Given the description of an element on the screen output the (x, y) to click on. 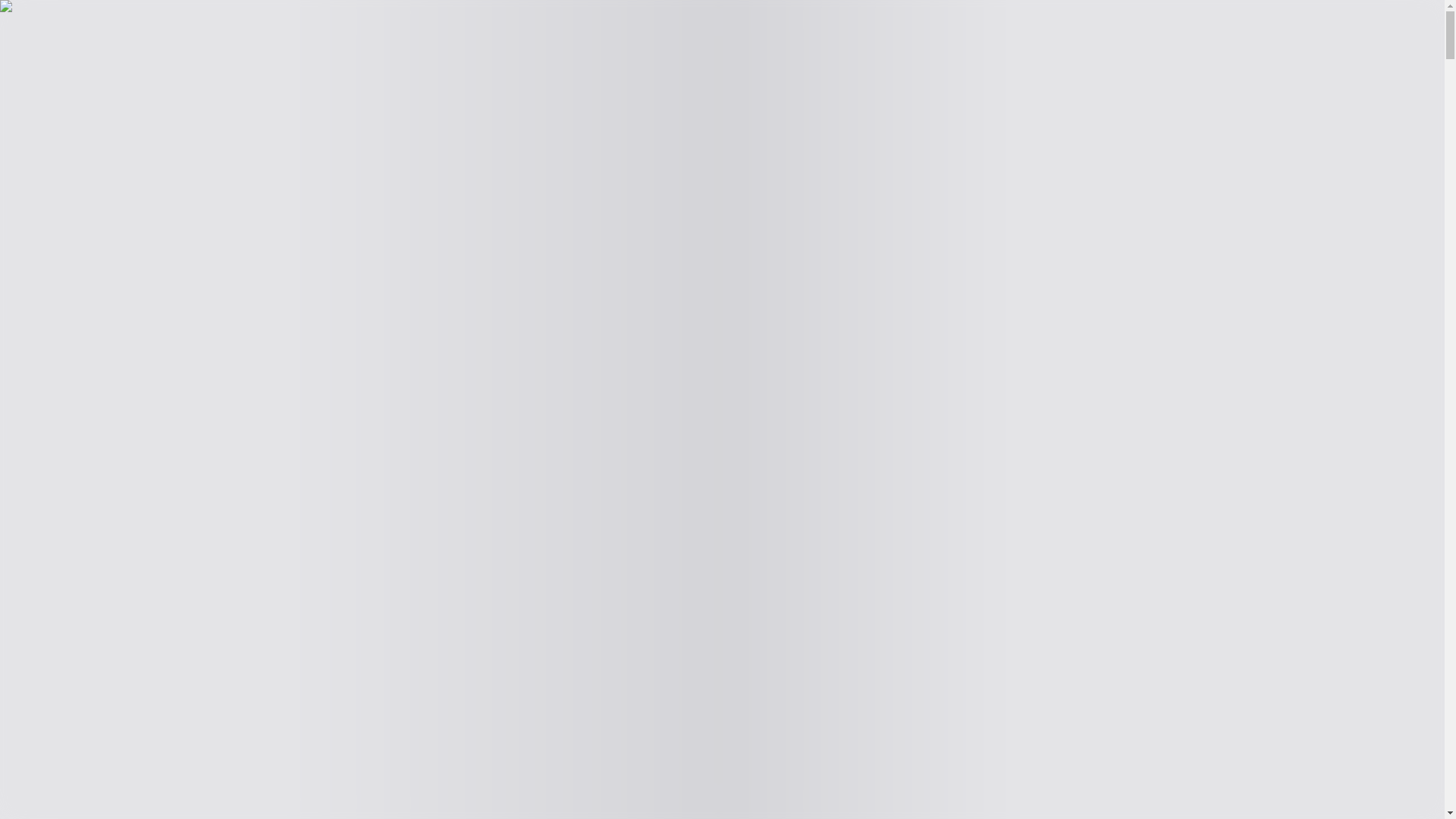
Themes (34, 44)
Articles (25, 60)
Search articles, podcasts, videos, resources, and authors. (146, 27)
Open Sidebar Menu (344, 27)
Our Services (151, 60)
Videos (103, 60)
Podcasts (66, 60)
